Given the description of an element on the screen output the (x, y) to click on. 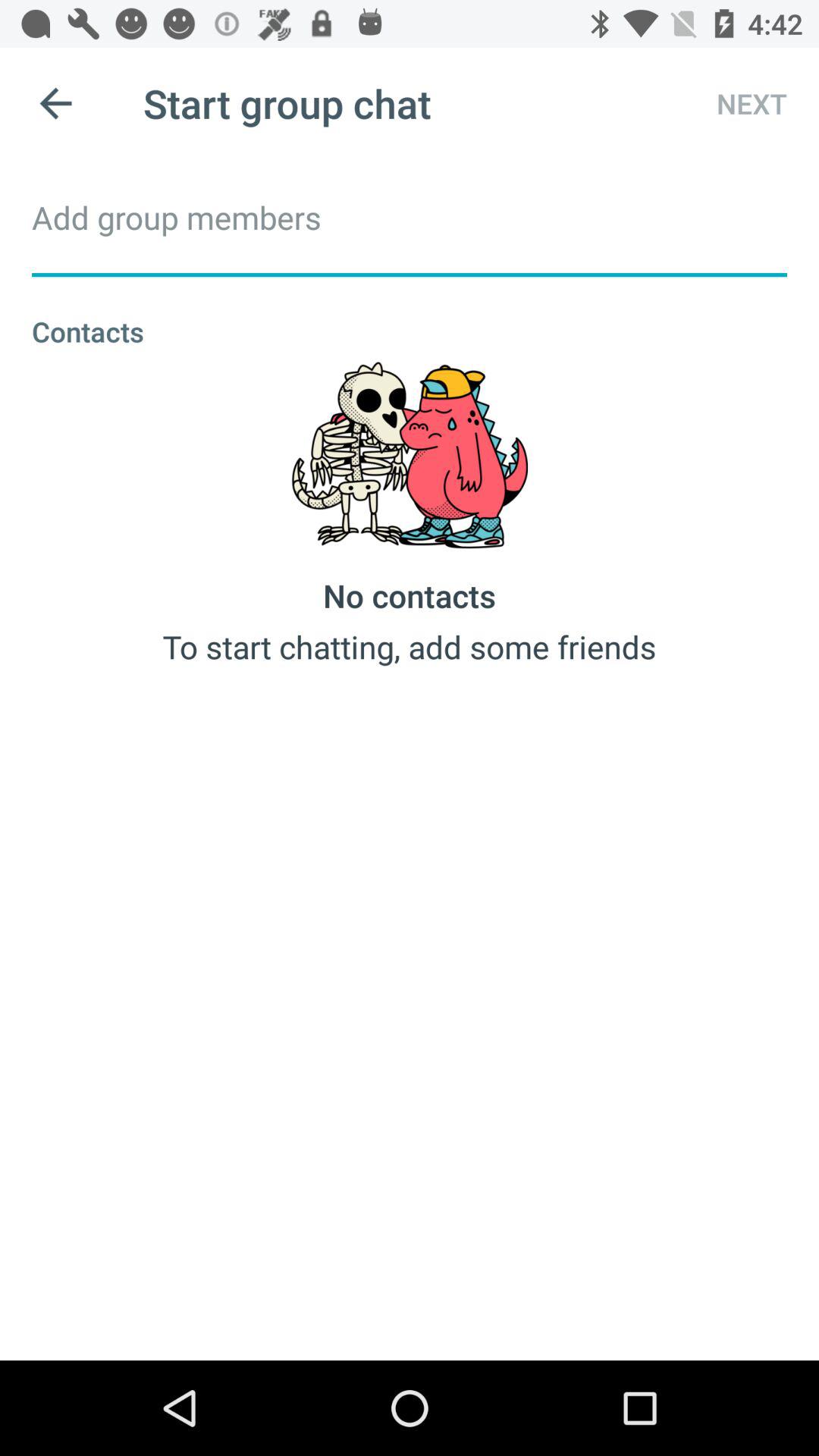
turn on item at the top right corner (737, 103)
